Given the description of an element on the screen output the (x, y) to click on. 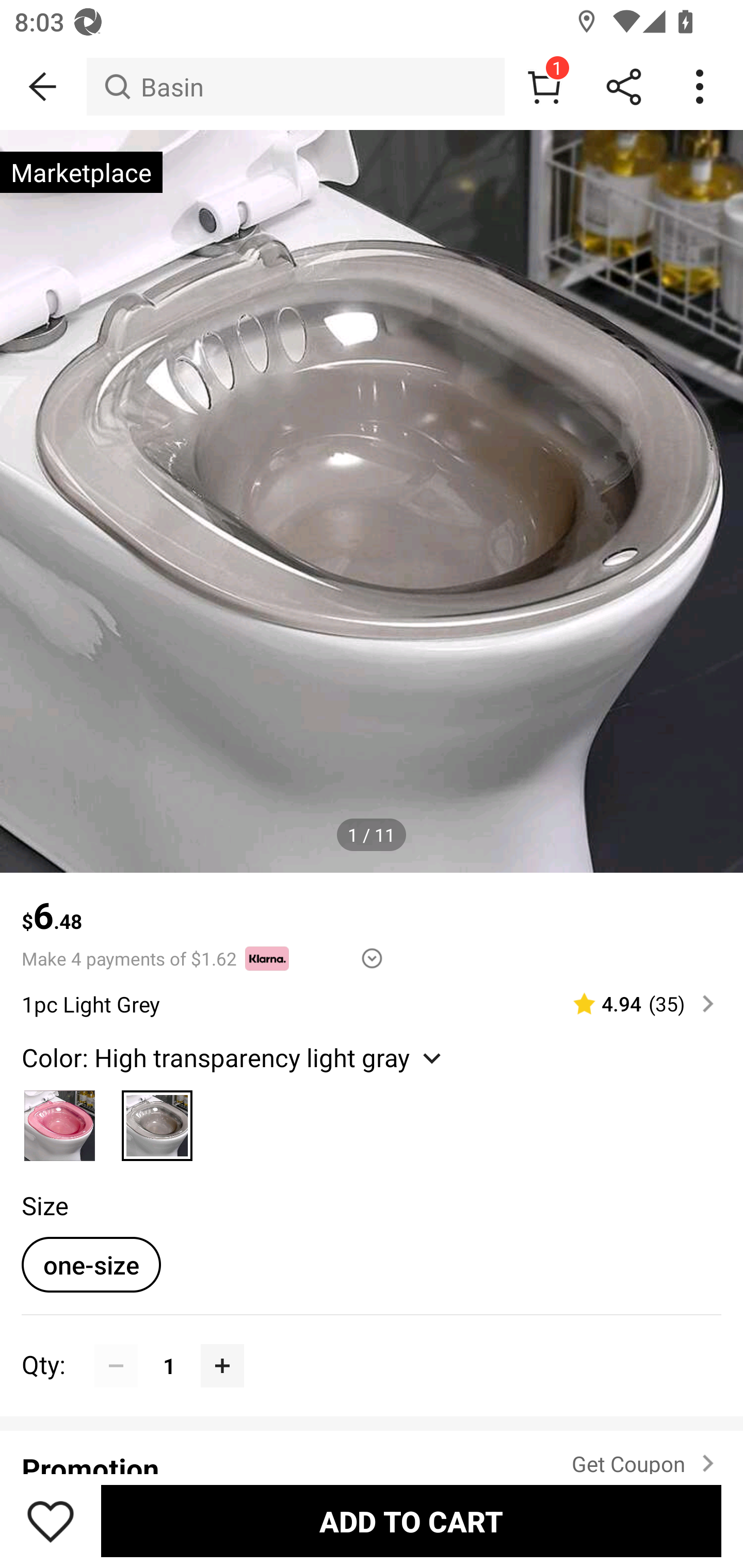
BACK (43, 86)
1 (543, 87)
Basin (295, 87)
PHOTOS Marketplace 1 / 11 (371, 501)
1 / 11 (371, 834)
$6.48 Make 4 payments of $1.62 (371, 921)
4.94 (35) (635, 1003)
Color: High transparency light gray (233, 1056)
High translucent light pink (59, 1120)
High transparency light gray (156, 1120)
Size (44, 1205)
one-size one-sizeselected option (91, 1264)
Qty: 1 (371, 1343)
Promotion Get Coupon (371, 1451)
ADD TO CART (411, 1520)
Save (50, 1520)
